Given the description of an element on the screen output the (x, y) to click on. 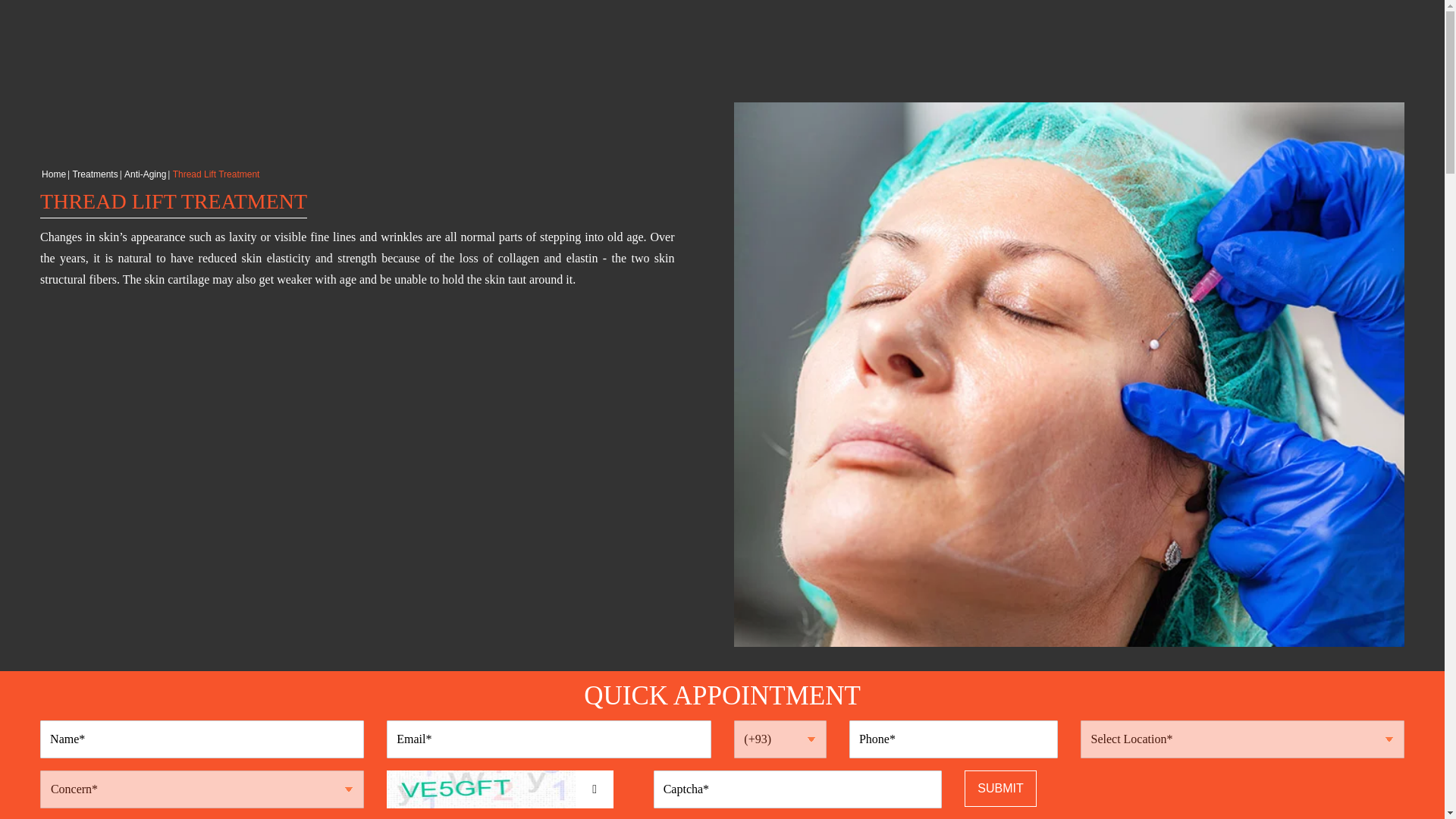
Submit (999, 788)
Refresh (593, 789)
